Given the description of an element on the screen output the (x, y) to click on. 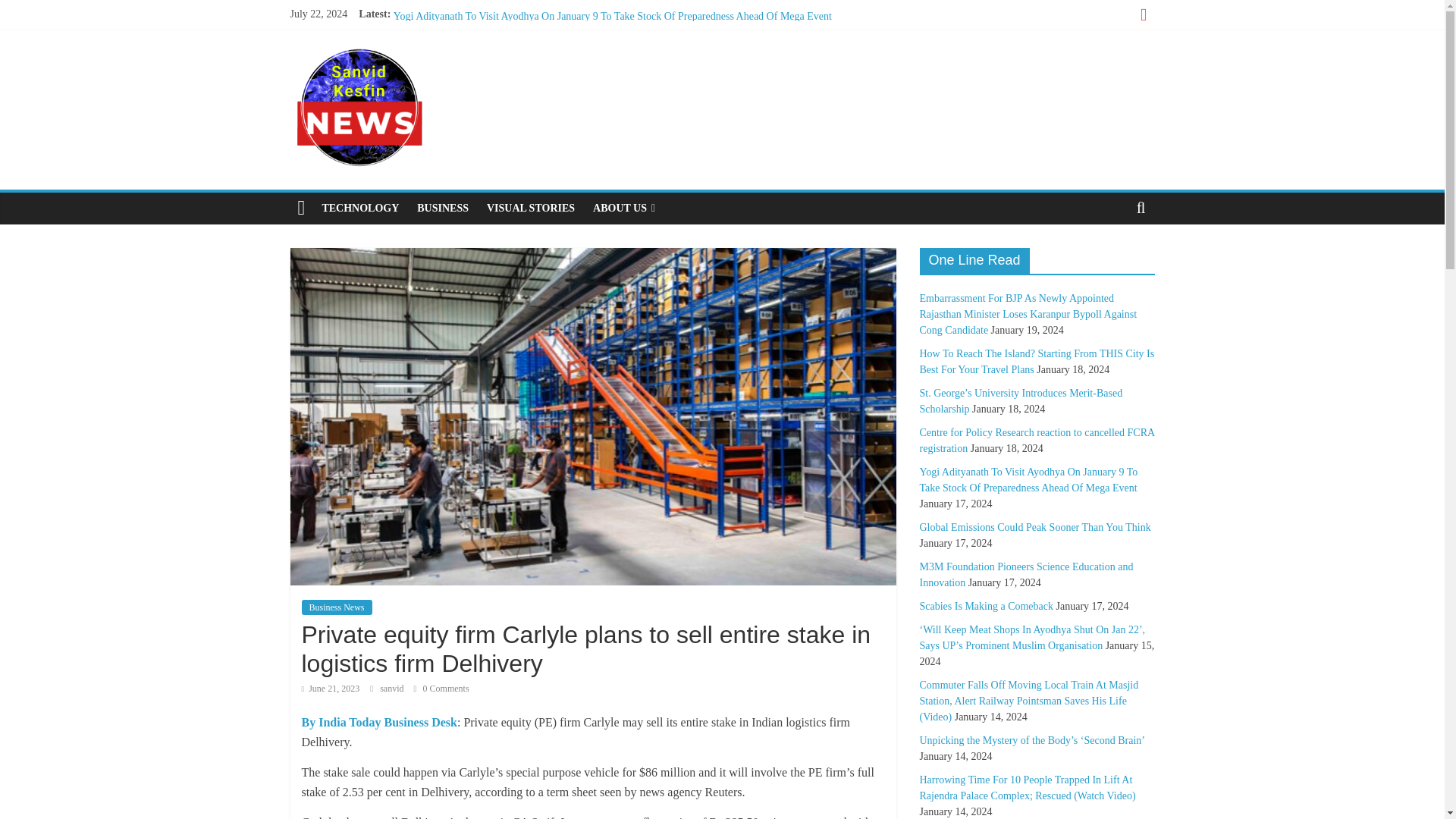
VISUAL STORIES (530, 208)
TECHNOLOGY (360, 208)
ABOUT US (623, 208)
By India Today Business Desk (379, 721)
sanvid (393, 688)
BUSINESS (442, 208)
India Today Business Desk (379, 721)
sanvid (393, 688)
June 21, 2023 (330, 688)
10:02 pm (330, 688)
